Given the description of an element on the screen output the (x, y) to click on. 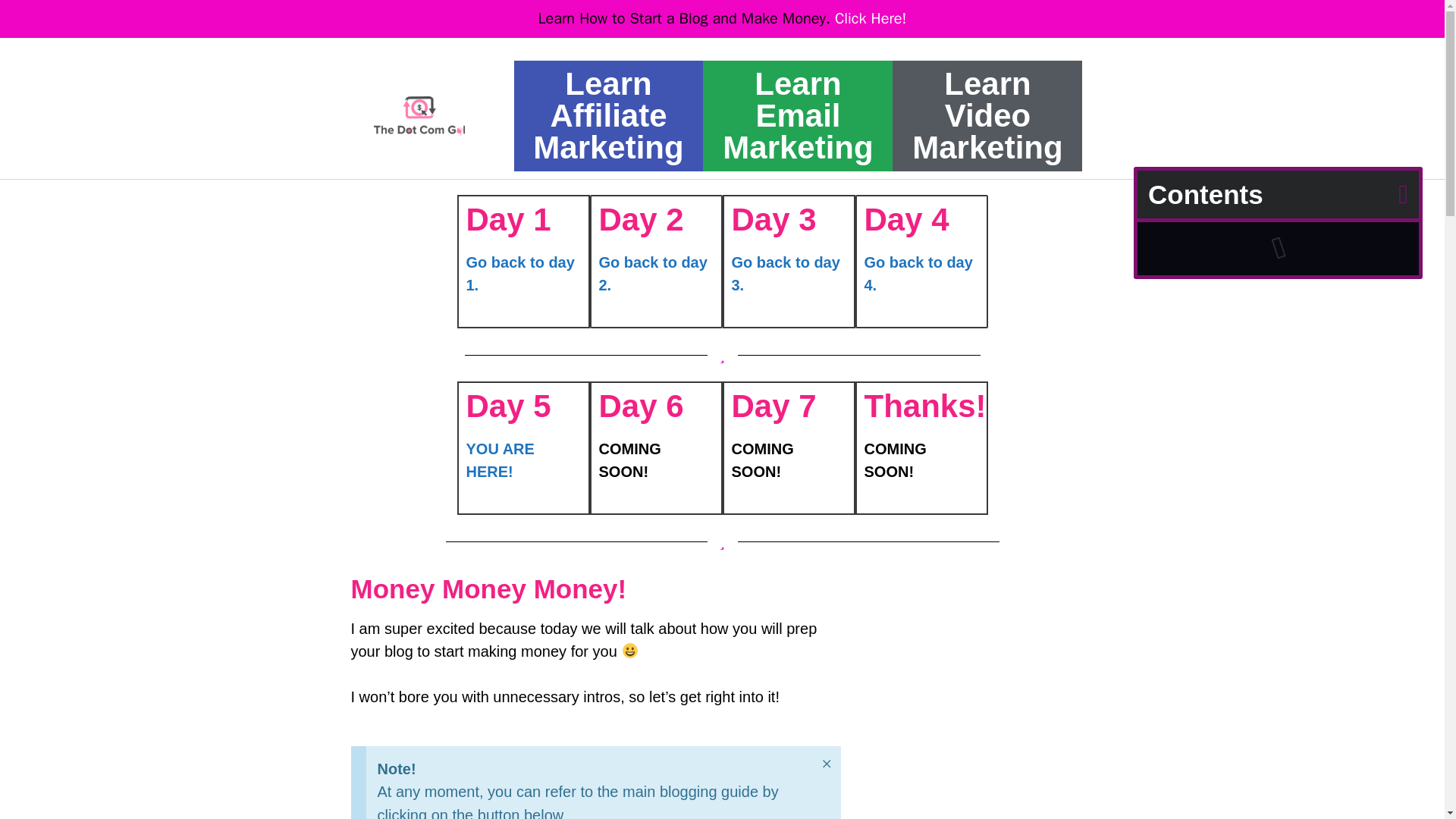
Go back to day 2. (652, 273)
Click Here! (870, 18)
YOU ARE HERE! (499, 459)
blogging course day 5 (418, 115)
Go back to day 1. (519, 273)
Go back to day 4. (918, 273)
Go back to day 3. (785, 273)
Learn Email Marketing (797, 115)
Learn Video Marketing (987, 115)
Learn Affiliate Marketing (607, 115)
